Given the description of an element on the screen output the (x, y) to click on. 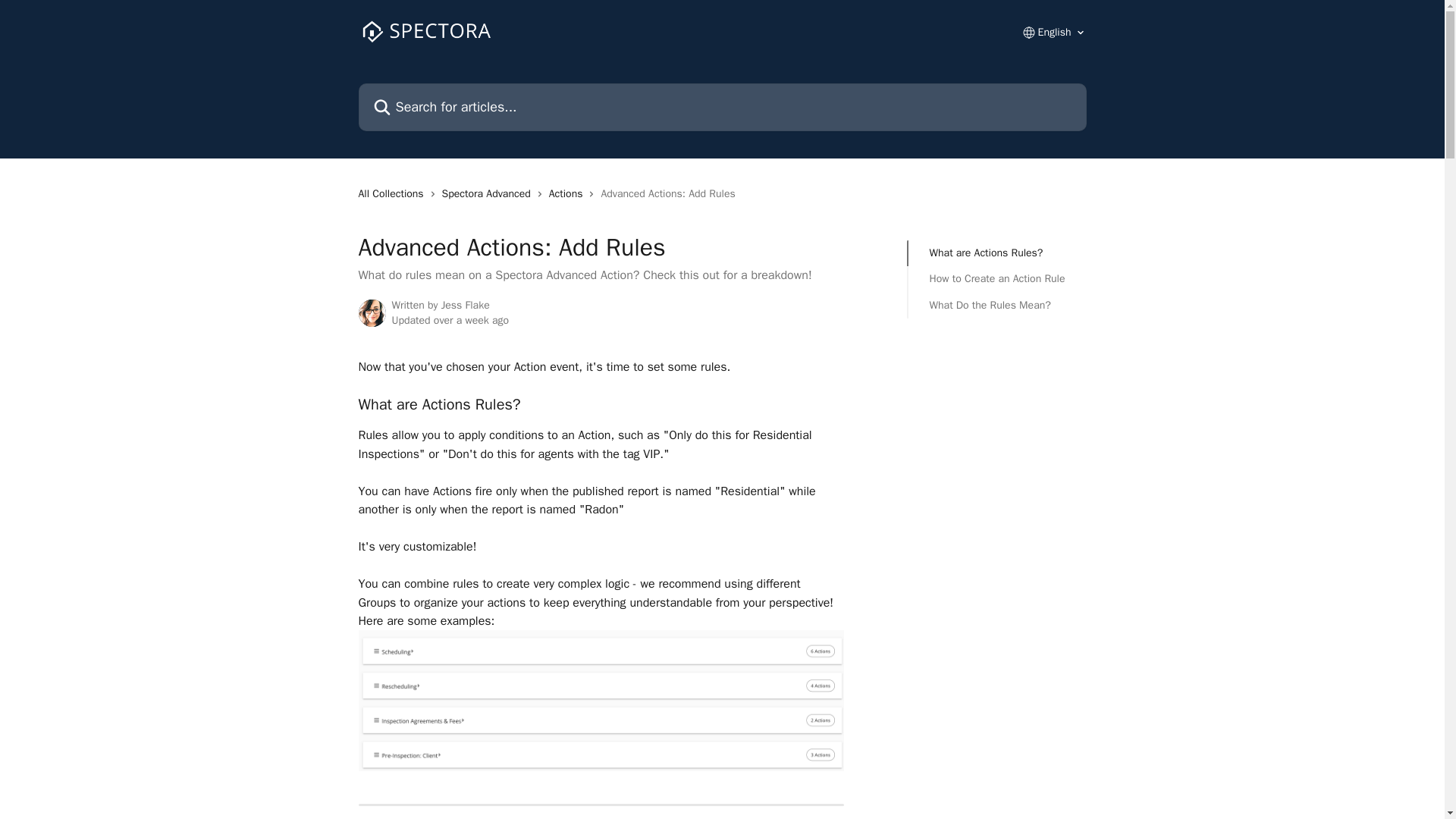
How to Create an Action Rule (997, 279)
Spectora Advanced (489, 193)
All Collections (393, 193)
What Do the Rules Mean? (997, 305)
Actions (568, 193)
What are Actions Rules? (997, 252)
